Given the description of an element on the screen output the (x, y) to click on. 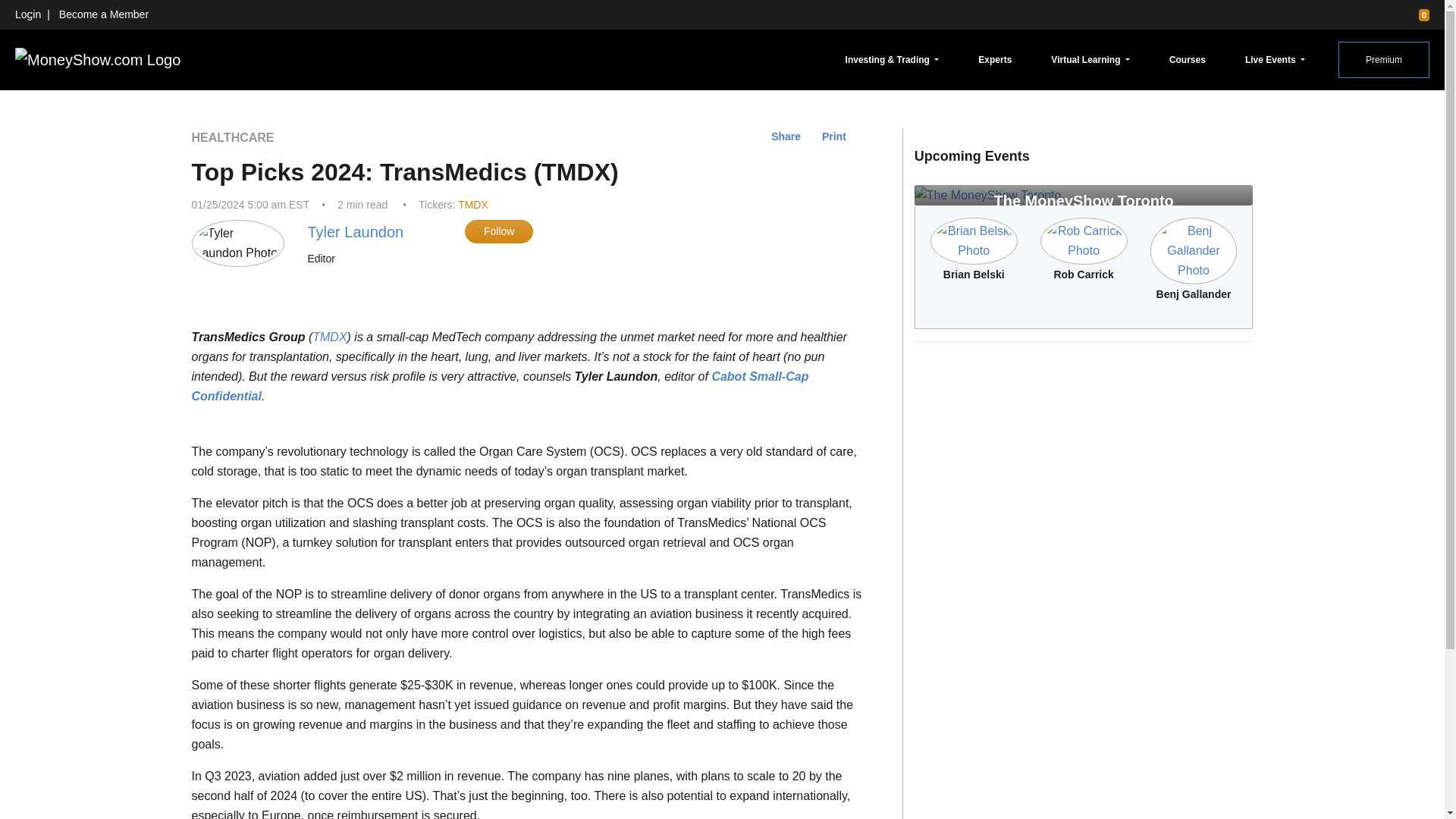
Premium (1383, 59)
Courses (1187, 59)
0 (1416, 14)
Tyler Laundon (355, 232)
Live Events (1275, 59)
Become a Member (103, 14)
TMDX (472, 204)
You must login to follow our experts. (498, 231)
Login (27, 14)
Share (785, 136)
